Given the description of an element on the screen output the (x, y) to click on. 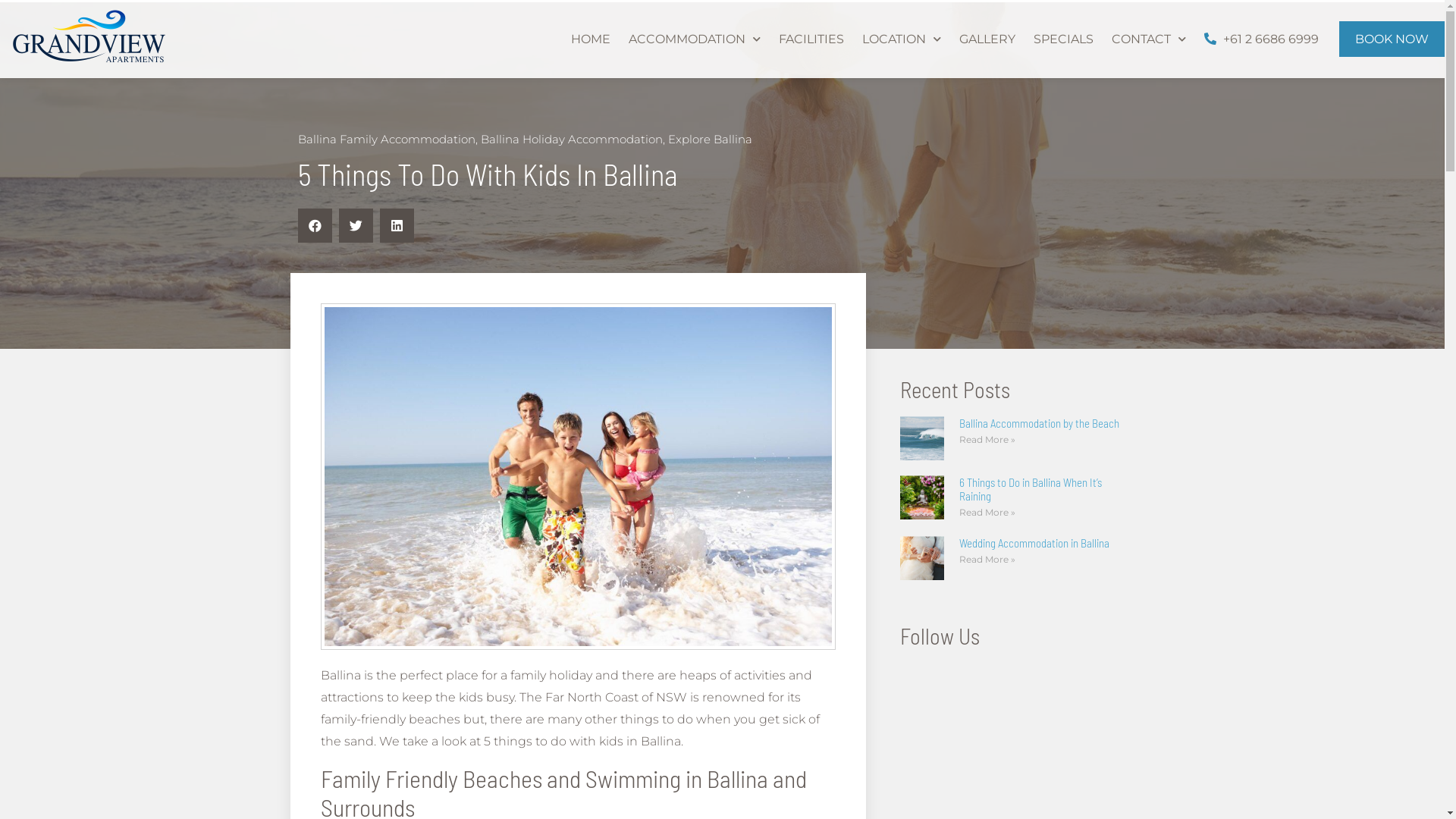
CONTACT Element type: text (1148, 39)
+61 2 6686 6999 Element type: text (1261, 39)
Ballina Holiday Accommodation Element type: text (571, 138)
ACCOMMODATION Element type: text (694, 39)
LOCATION Element type: text (901, 39)
Ballina Accommodation by the Beach Element type: text (1039, 422)
Explore Ballina Element type: text (709, 138)
HOME Element type: text (590, 39)
Wedding Accommodation in Ballina Element type: text (1034, 542)
BOOK NOW Element type: text (1391, 38)
SPECIALS Element type: text (1063, 39)
Ballina Family Accommodation Element type: text (385, 138)
GALLERY Element type: text (987, 39)
FACILITIES Element type: text (811, 39)
